Given the description of an element on the screen output the (x, y) to click on. 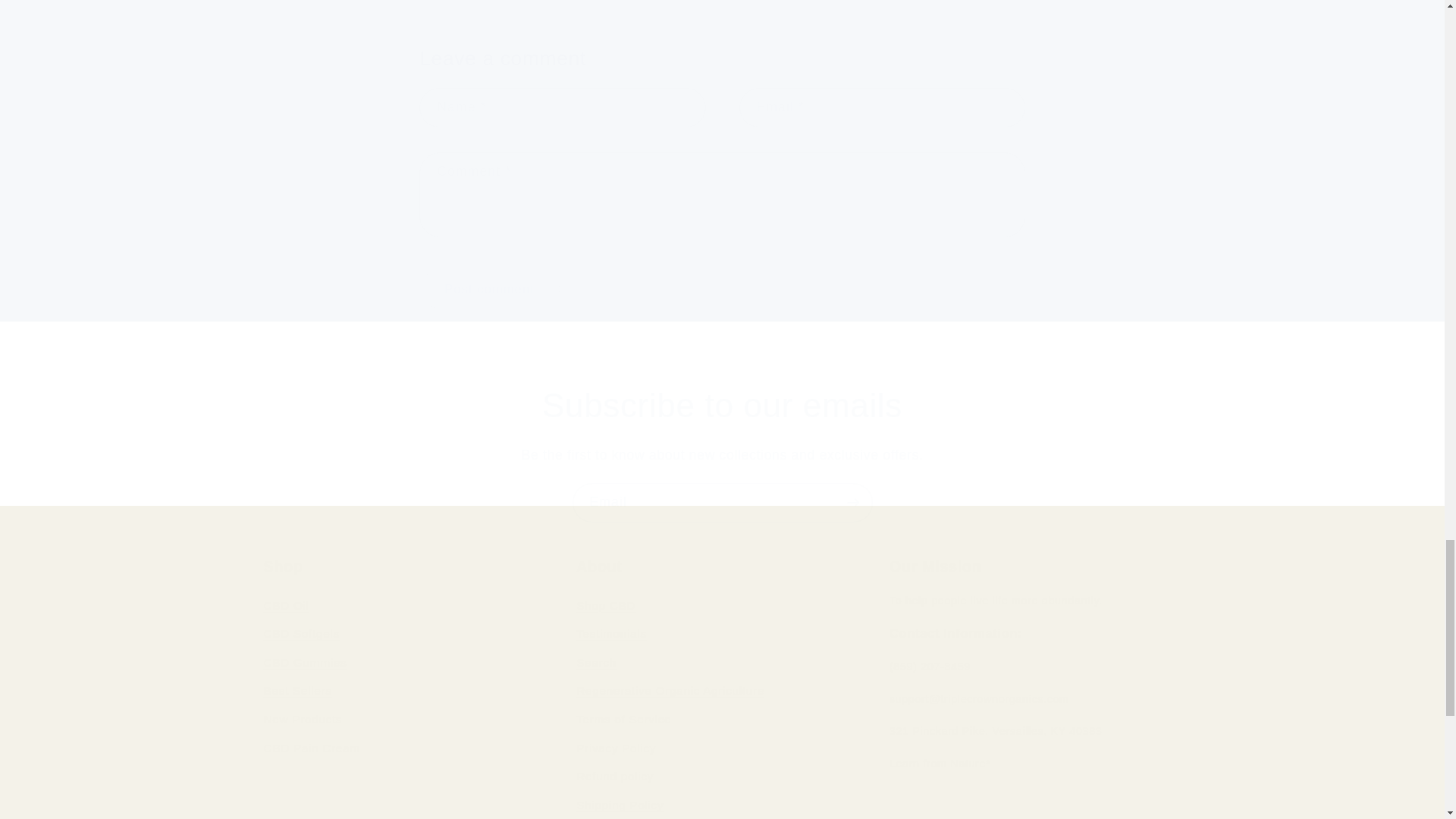
Subscribe to our emails (722, 405)
Post comment (489, 289)
Email (722, 502)
